Given the description of an element on the screen output the (x, y) to click on. 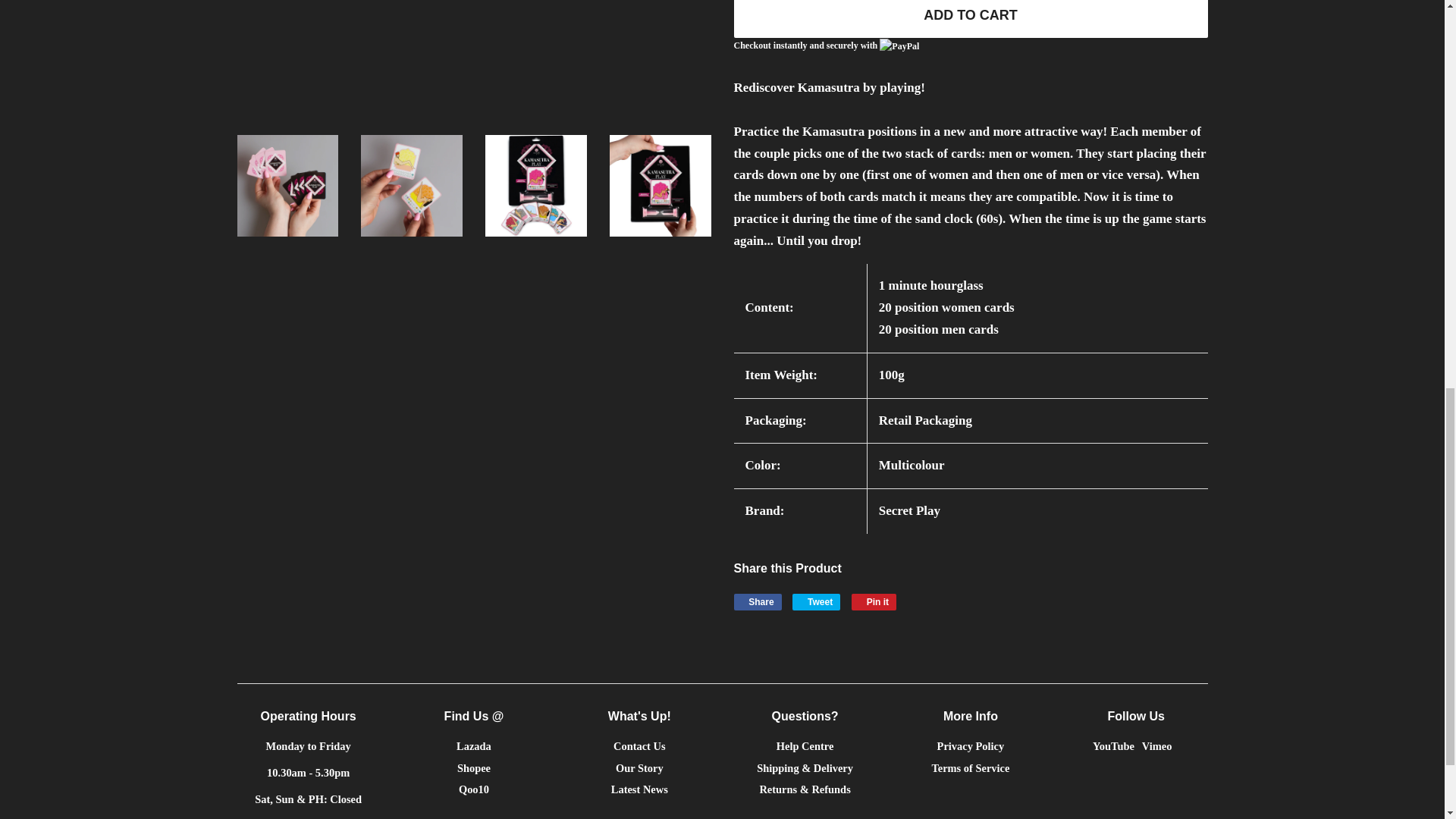
Extreme Toyz  on YouTube (1113, 746)
Help Centre (805, 746)
Vimeo (816, 601)
Lazada (1156, 746)
Extreme Toyz  on Vimeo (474, 746)
Share on Facebook (1156, 746)
YouTube (757, 601)
Shopee (1113, 746)
